Given the description of an element on the screen output the (x, y) to click on. 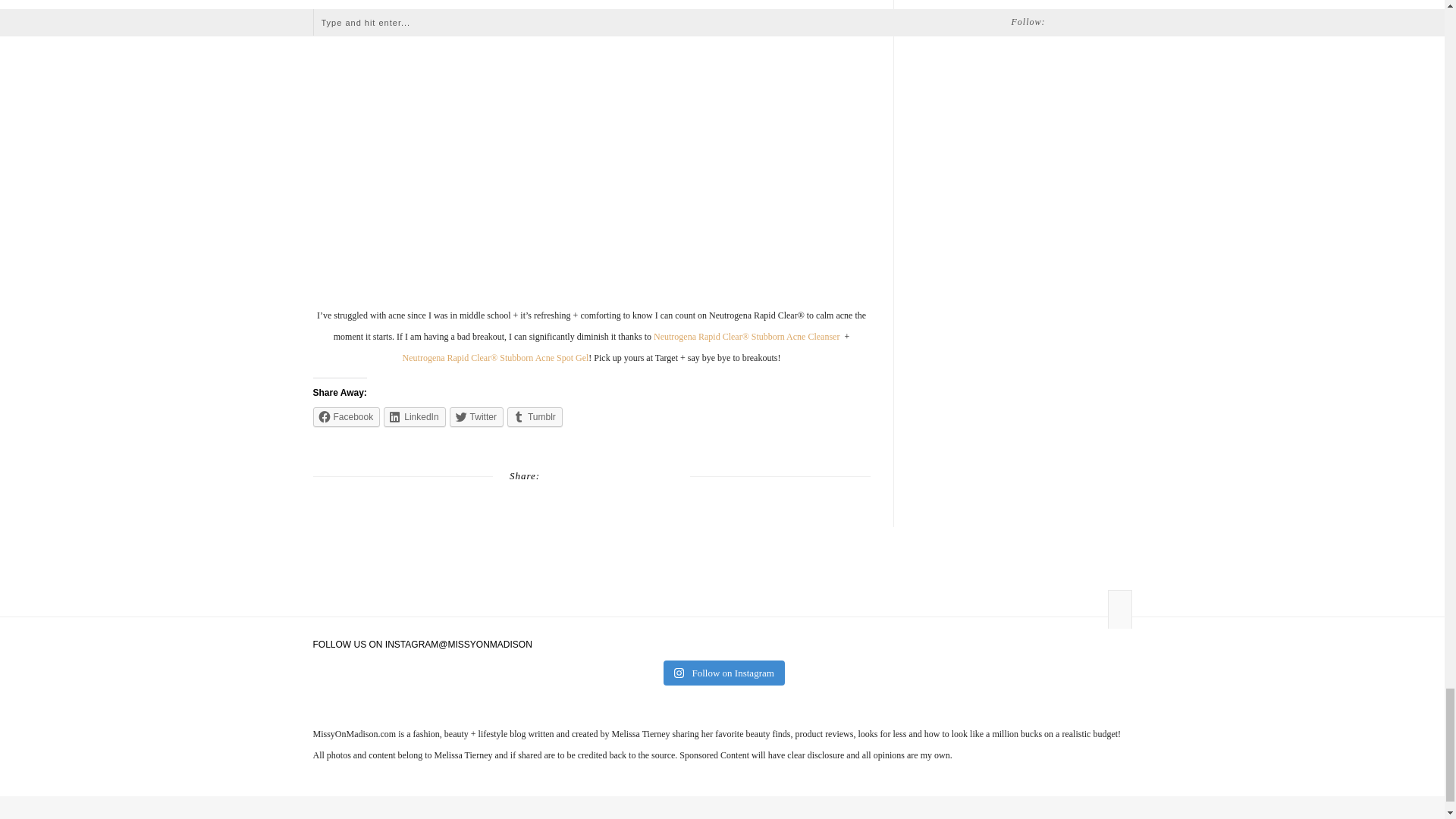
Click to share on Twitter (476, 416)
Click to share on Tumblr (534, 416)
Click to share on Facebook (346, 416)
Click to share on LinkedIn (414, 416)
